Given the description of an element on the screen output the (x, y) to click on. 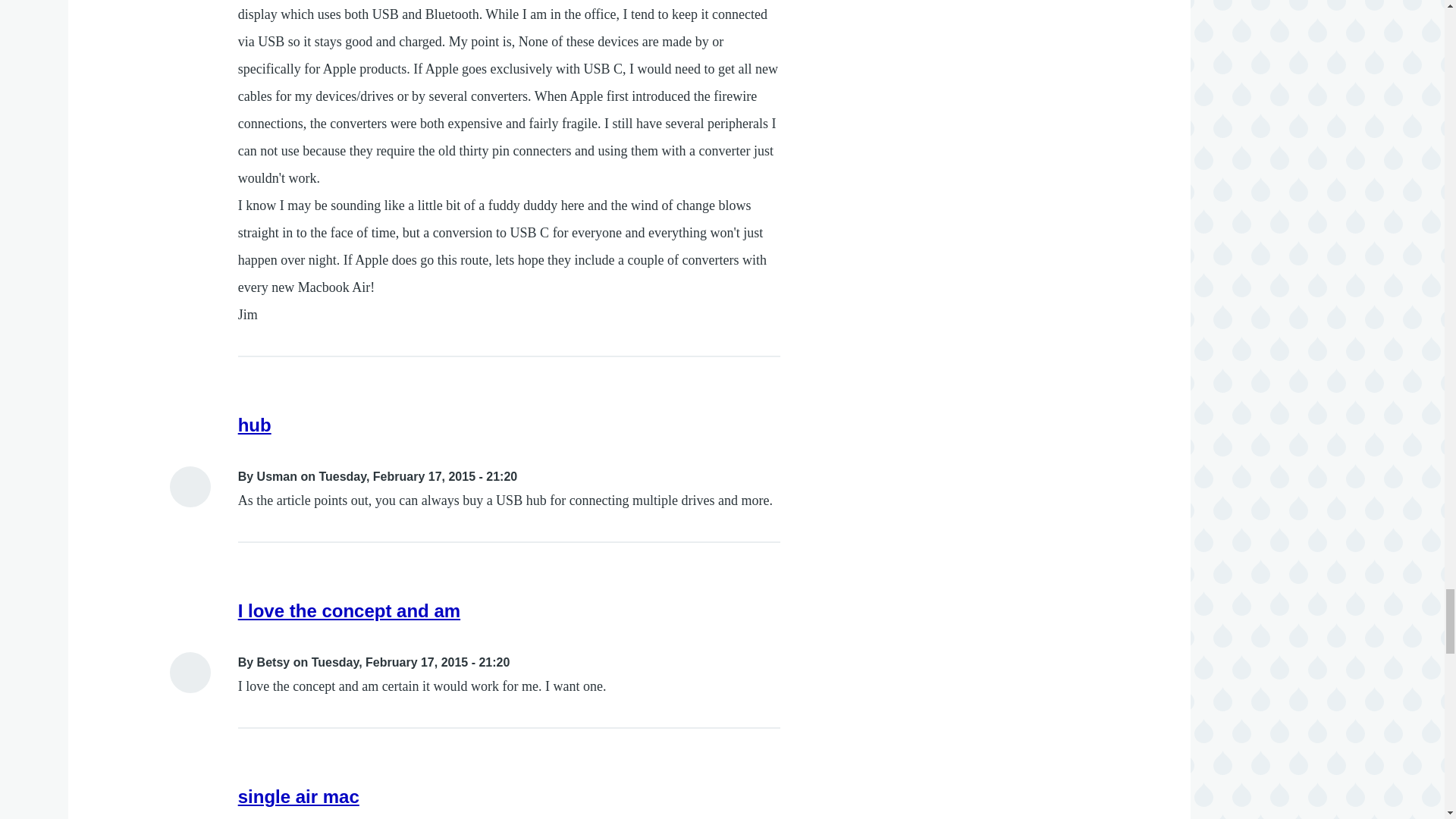
hub (254, 424)
single air mac (298, 796)
I love the concept and am (349, 610)
